Given the description of an element on the screen output the (x, y) to click on. 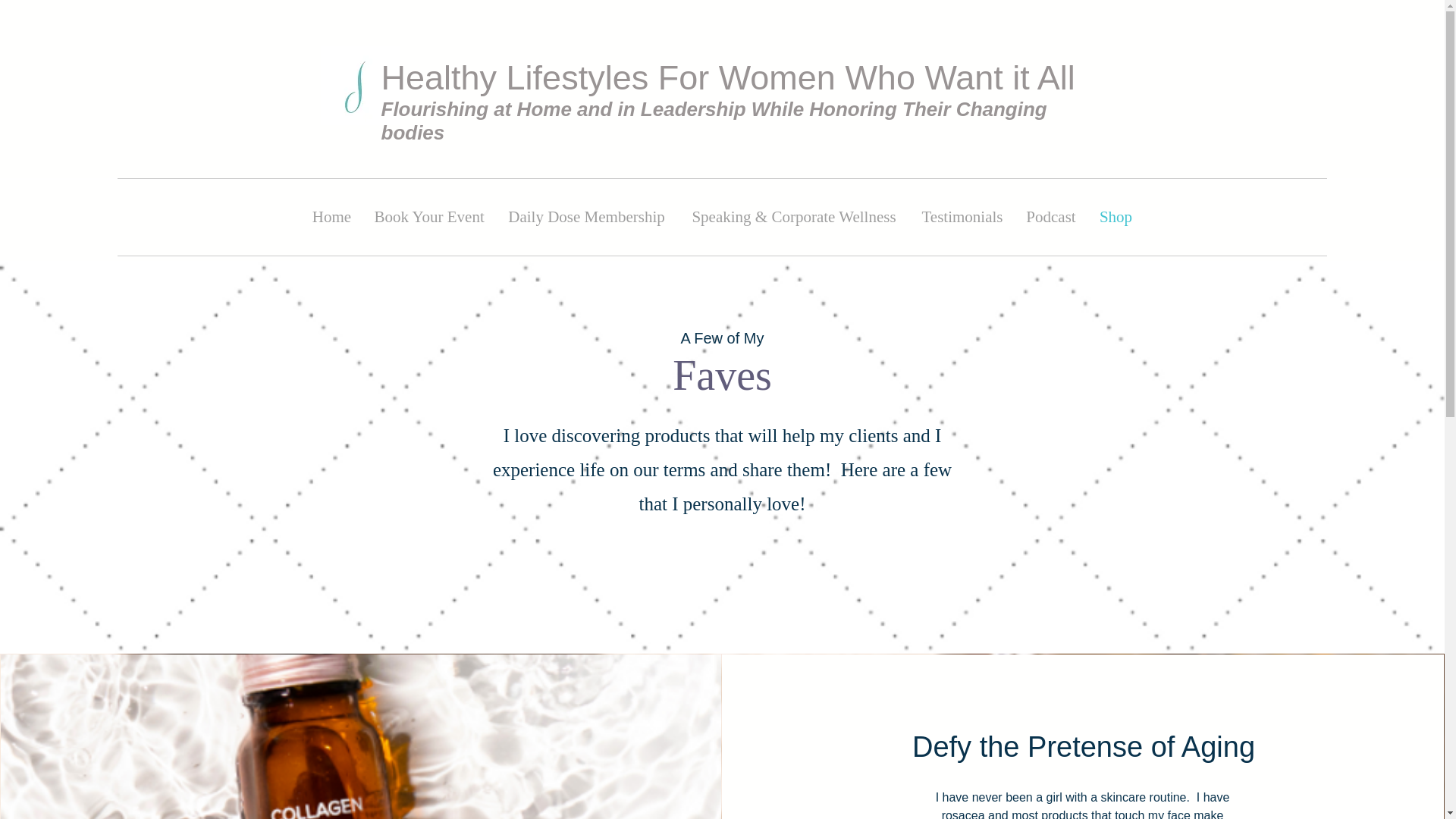
Book Your Event (428, 217)
Daily Dose Membership (587, 217)
Testimonials (961, 217)
Podcast (1050, 217)
